Given the description of an element on the screen output the (x, y) to click on. 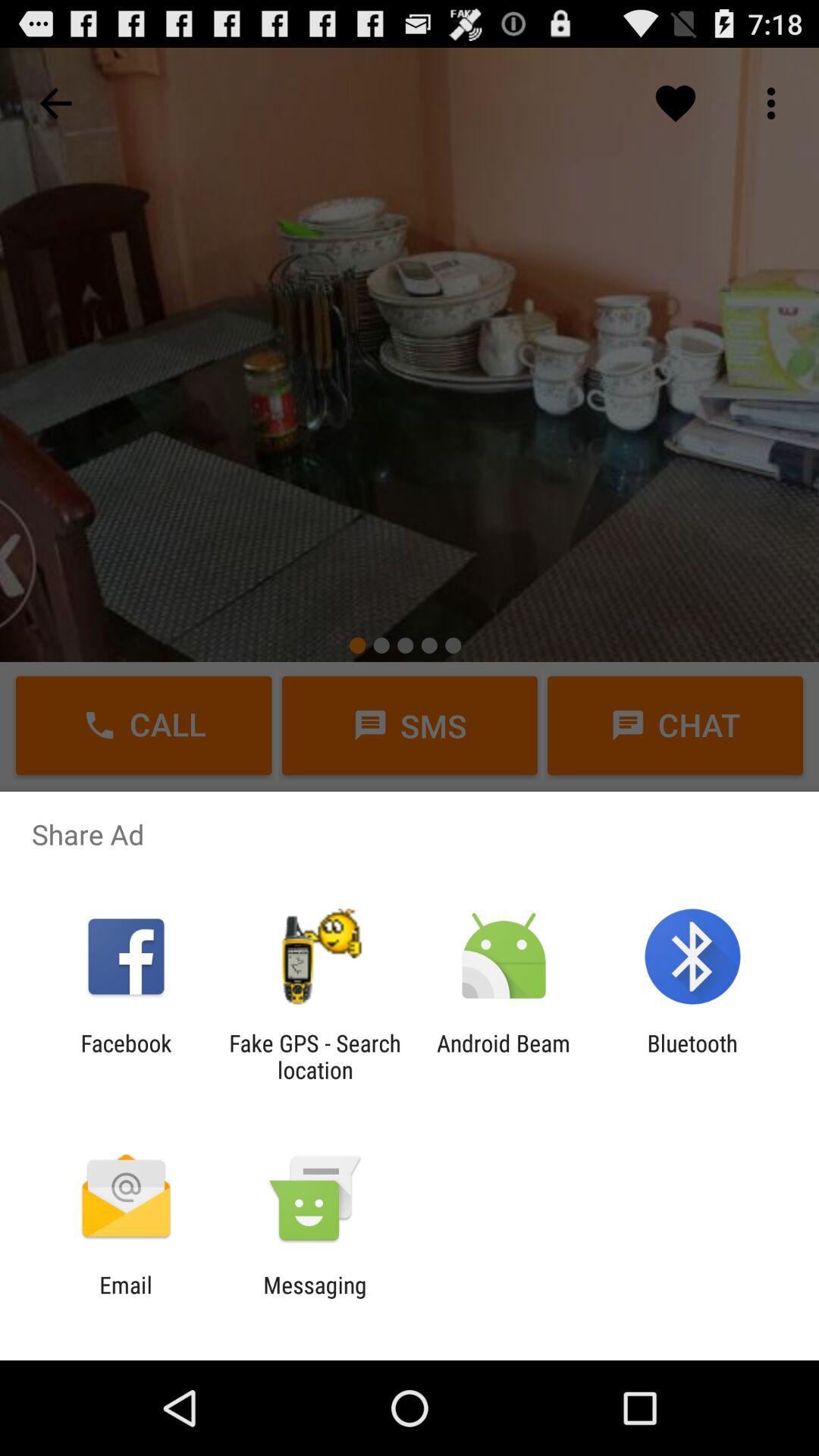
choose the app at the bottom right corner (692, 1056)
